Given the description of an element on the screen output the (x, y) to click on. 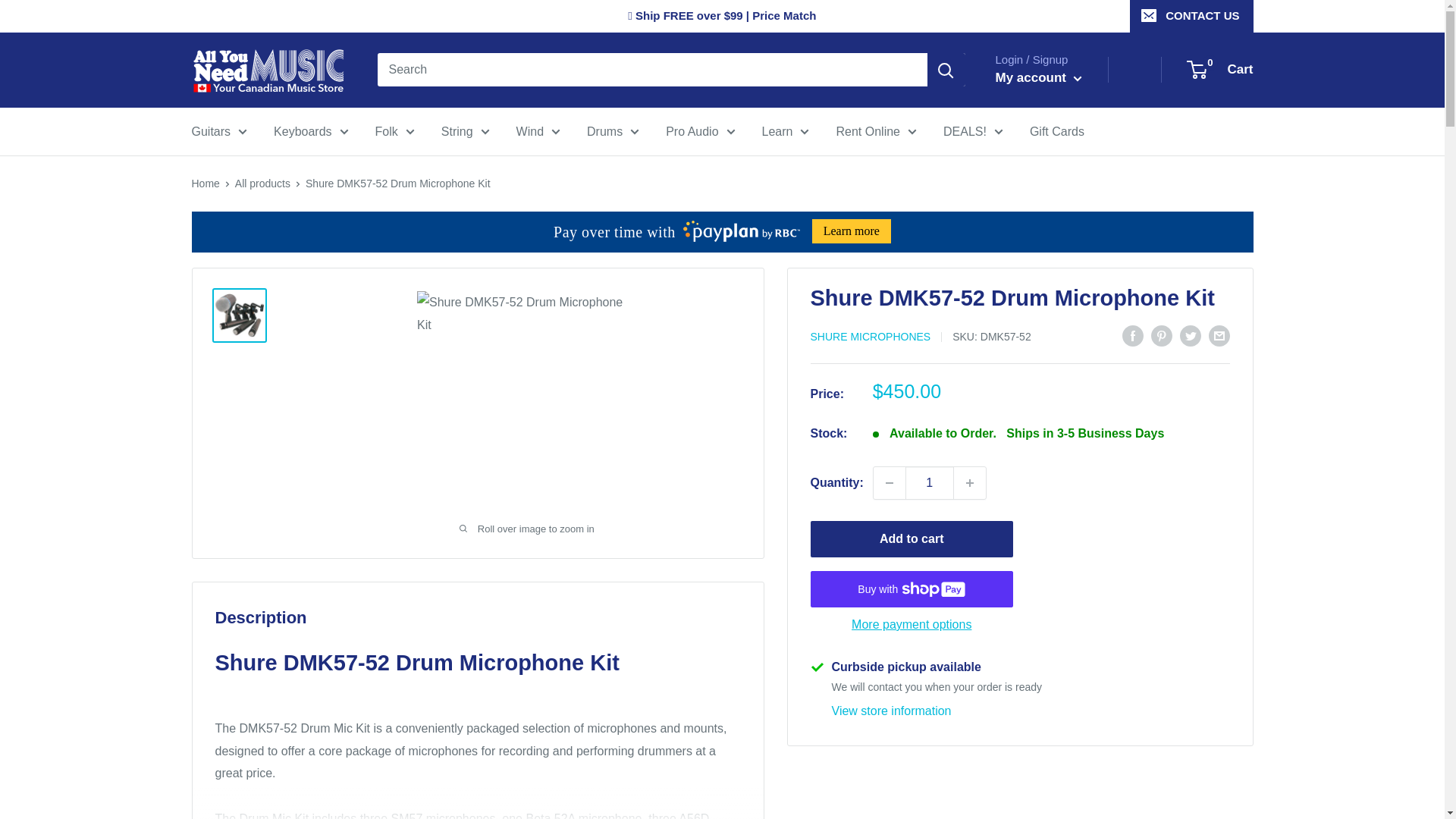
1 (929, 482)
Decrease quantity by 1 (889, 482)
Increase quantity by 1 (969, 482)
CONTACT US (1190, 15)
